Given the description of an element on the screen output the (x, y) to click on. 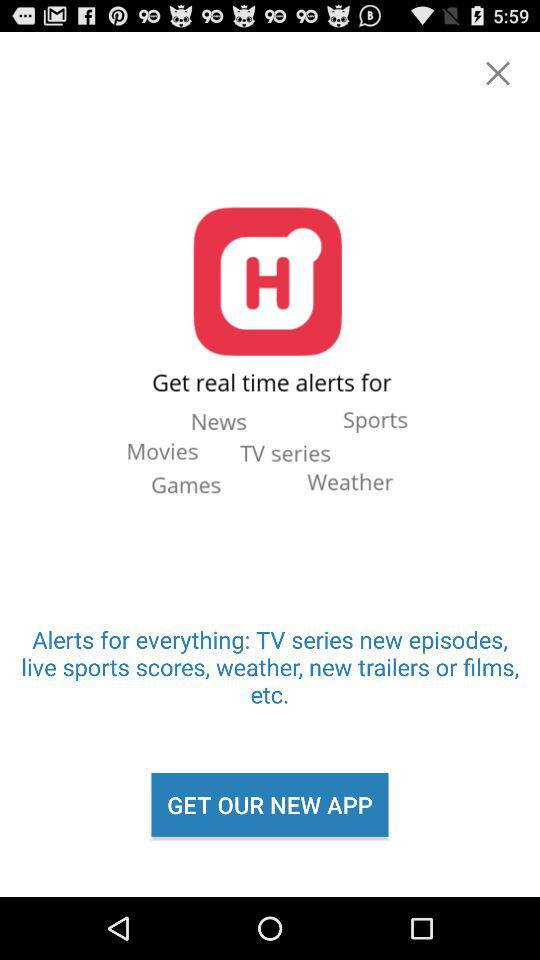
an x icon for backing out or closing the page and or app (498, 73)
